Given the description of an element on the screen output the (x, y) to click on. 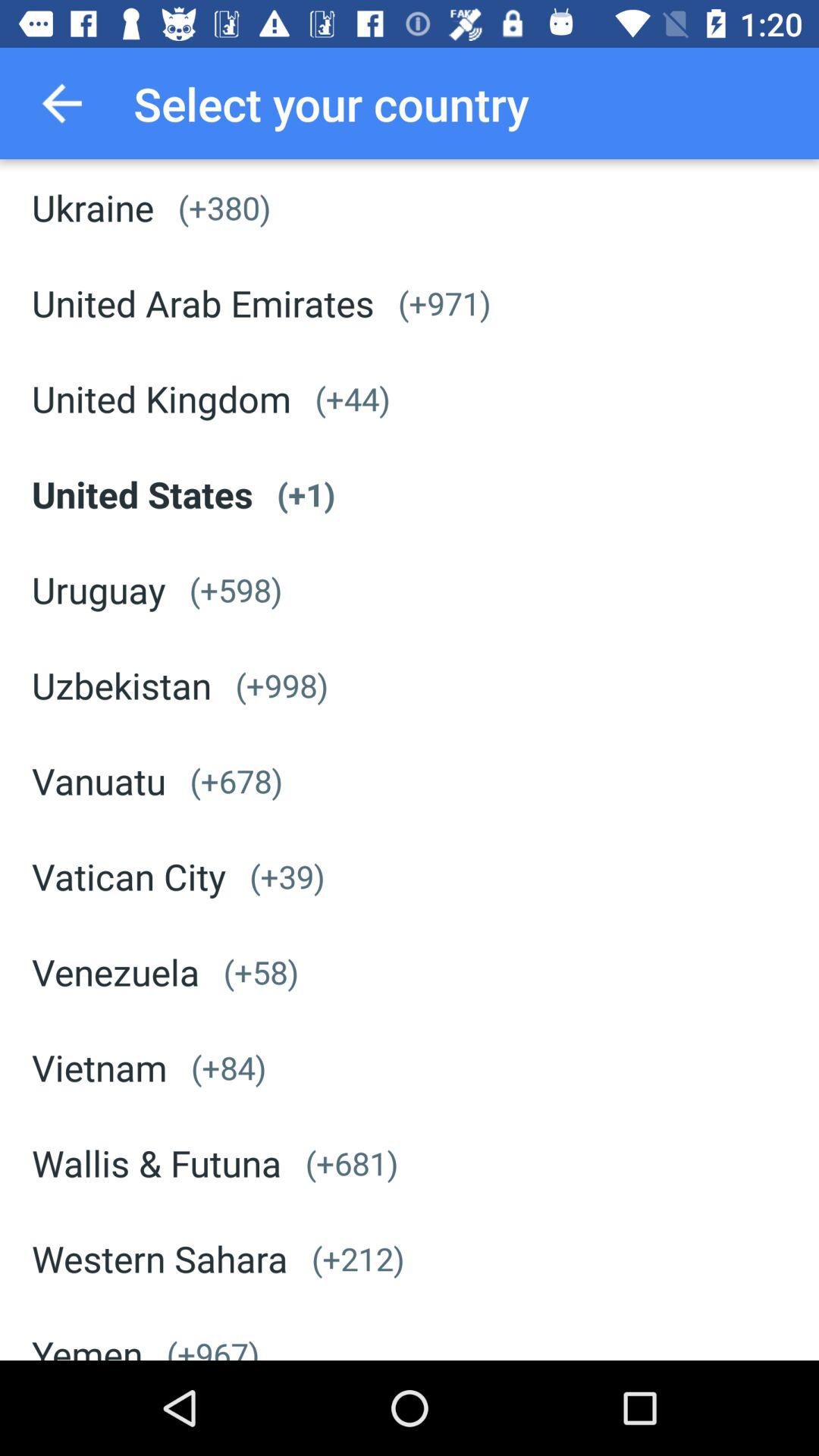
click app next to united kingdom item (352, 398)
